Given the description of an element on the screen output the (x, y) to click on. 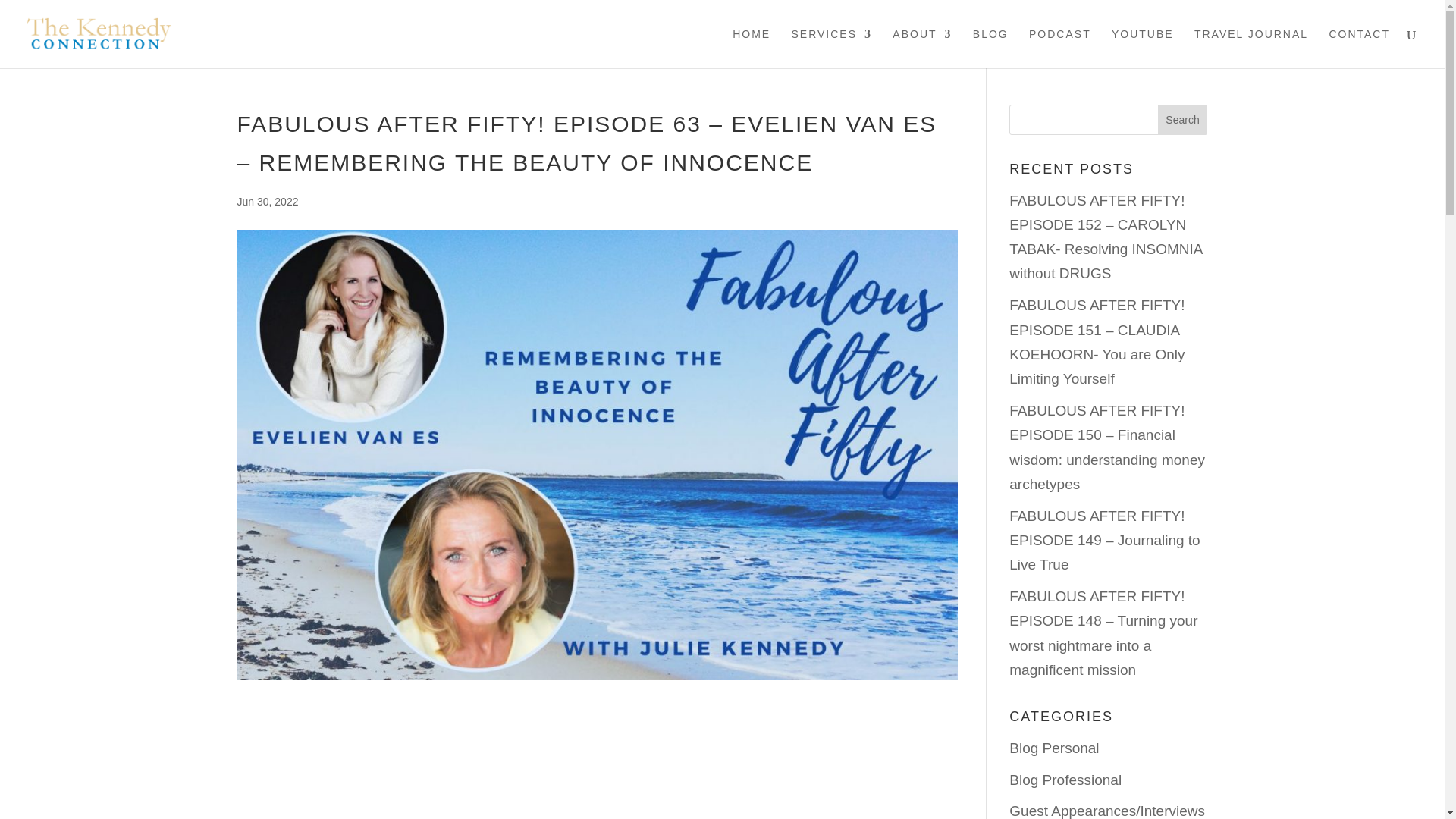
Search (1182, 119)
TRAVEL JOURNAL (1250, 47)
Blubrry Podcast Player (595, 751)
BLOG (990, 47)
CONTACT (1358, 47)
PODCAST (1059, 47)
SERVICES (831, 47)
HOME (751, 47)
ABOUT (922, 47)
YOUTUBE (1142, 47)
